Given the description of an element on the screen output the (x, y) to click on. 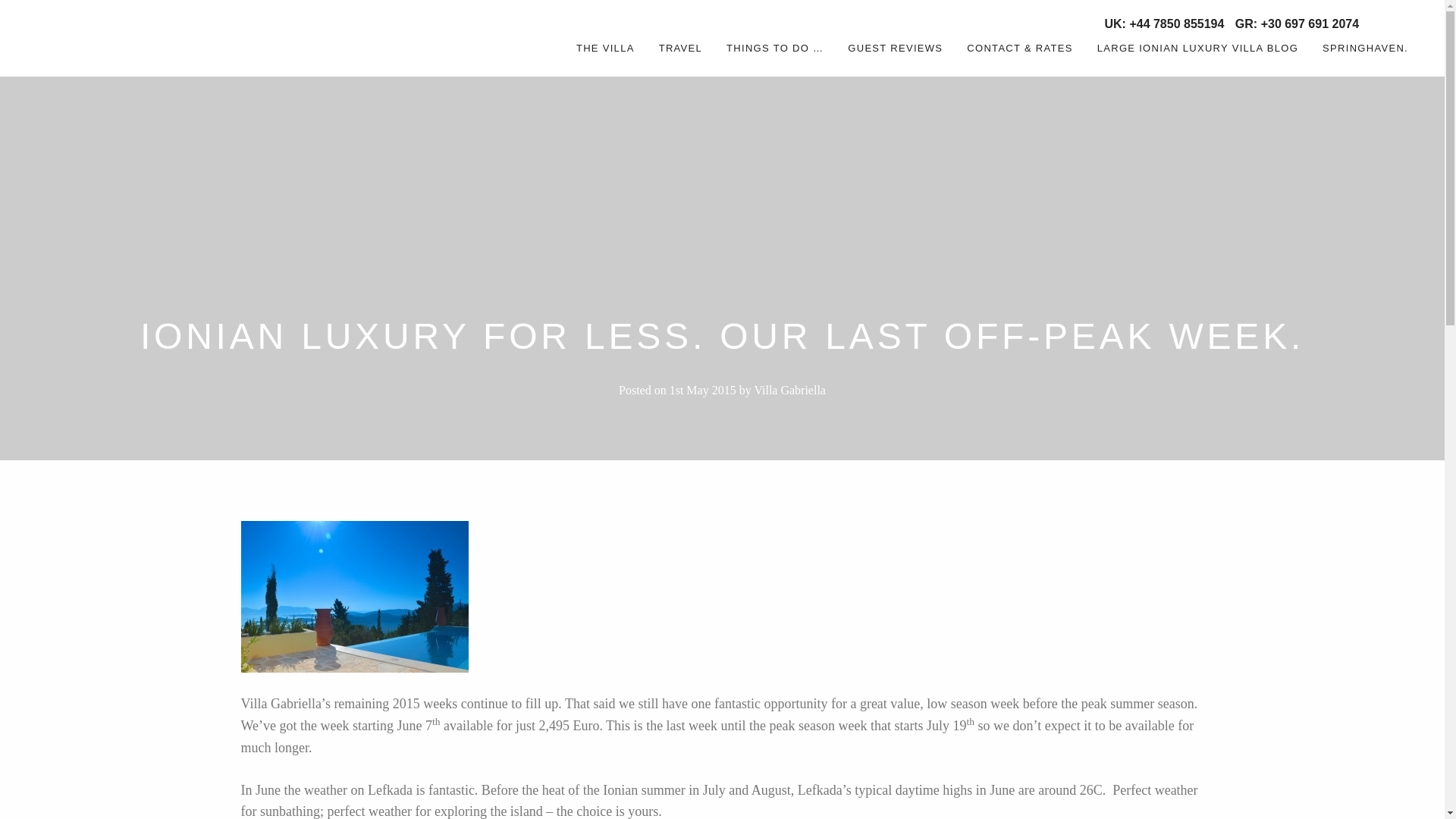
SPRINGHAVEN. (1365, 48)
LARGE IONIAN LUXURY VILLA BLOG (1197, 48)
Villa Gabriella (92, 37)
GUEST REVIEWS (895, 48)
Villa Gabriella (789, 390)
1st May 2015 (702, 390)
THE VILLA (605, 48)
TRAVEL (680, 48)
